Given the description of an element on the screen output the (x, y) to click on. 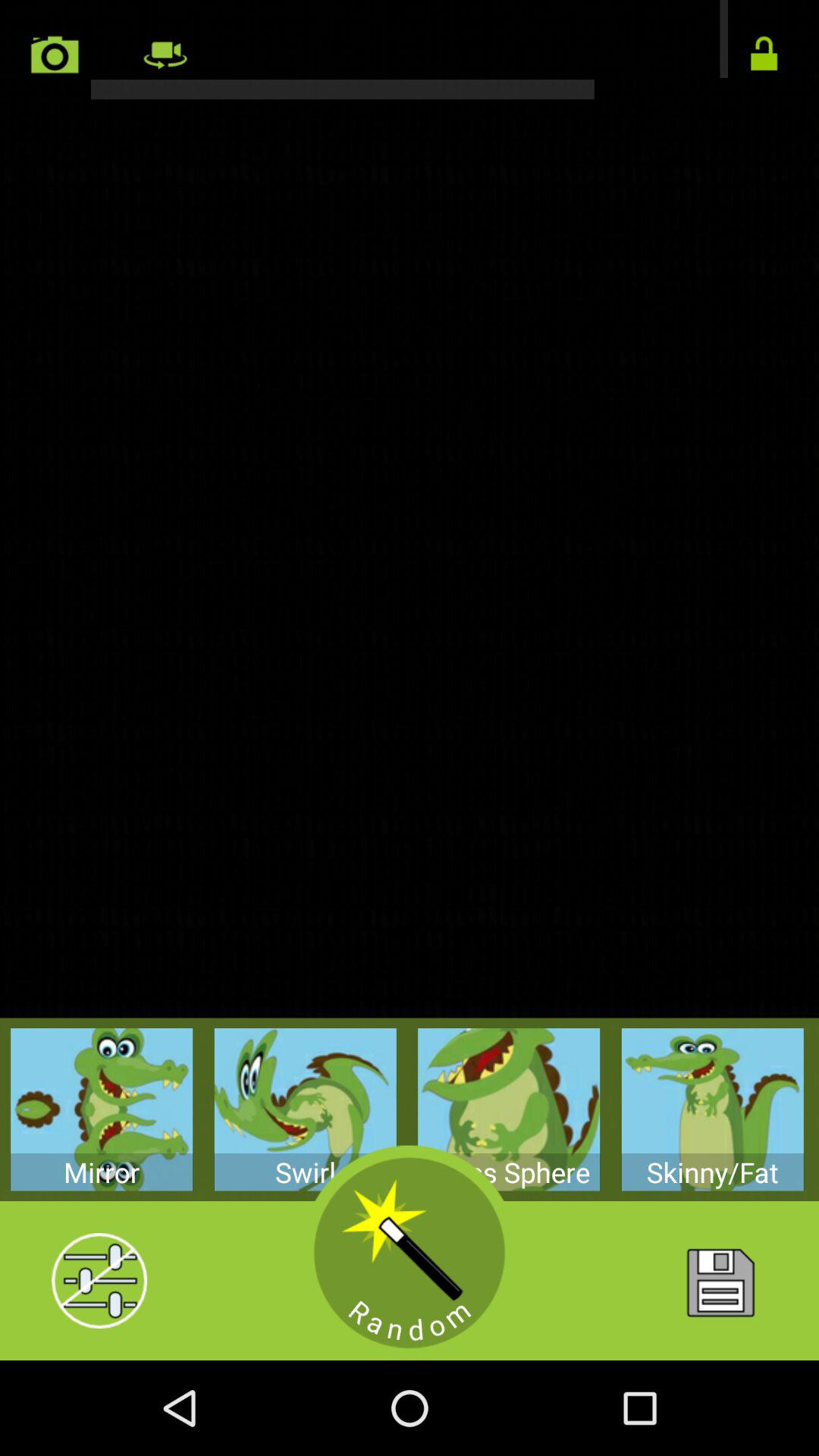
save (719, 1280)
